Given the description of an element on the screen output the (x, y) to click on. 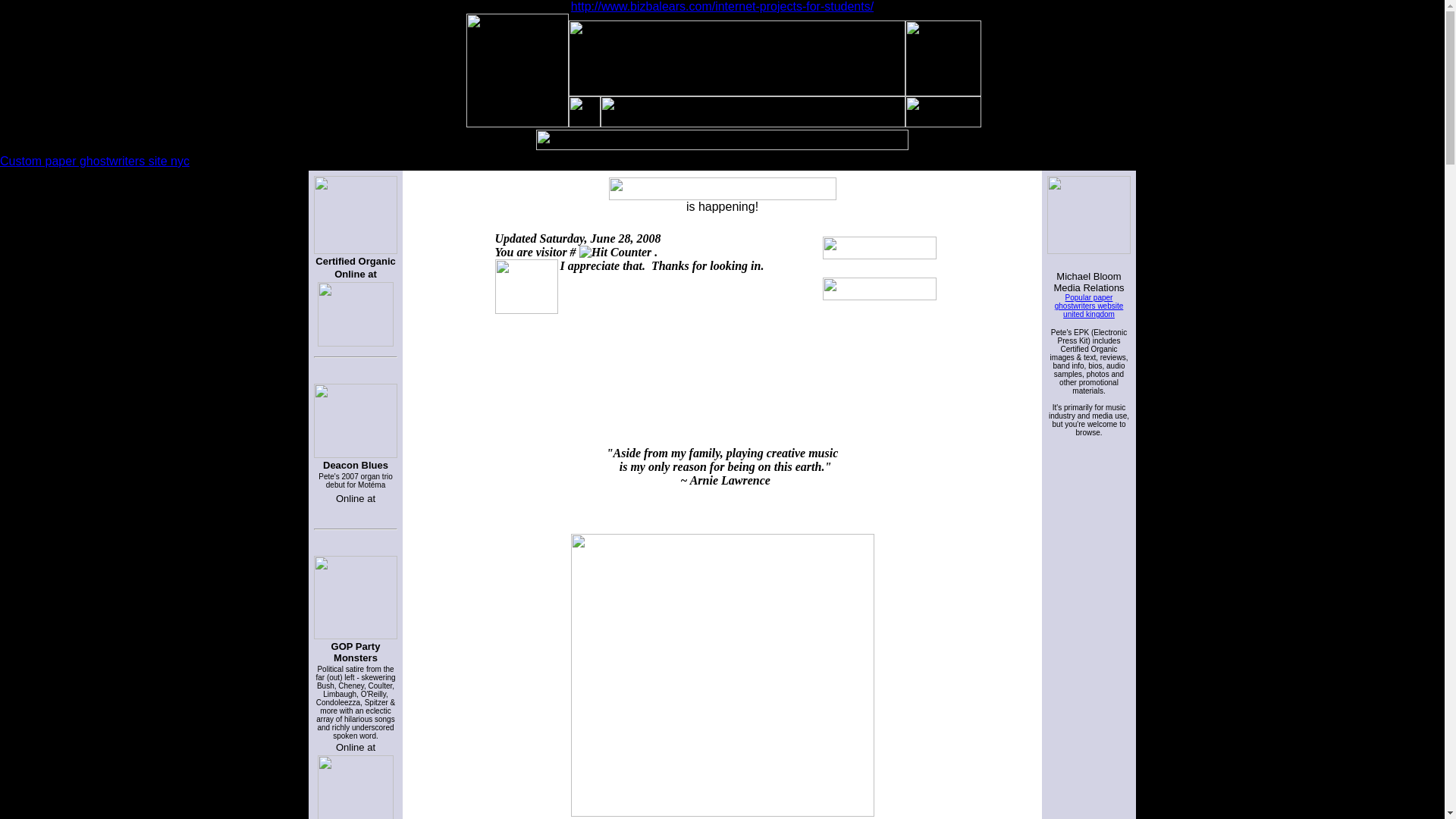
Popular paper ghostwriters website united kingdom (1089, 305)
Custom paper ghostwriters site nyc (94, 160)
